Given the description of an element on the screen output the (x, y) to click on. 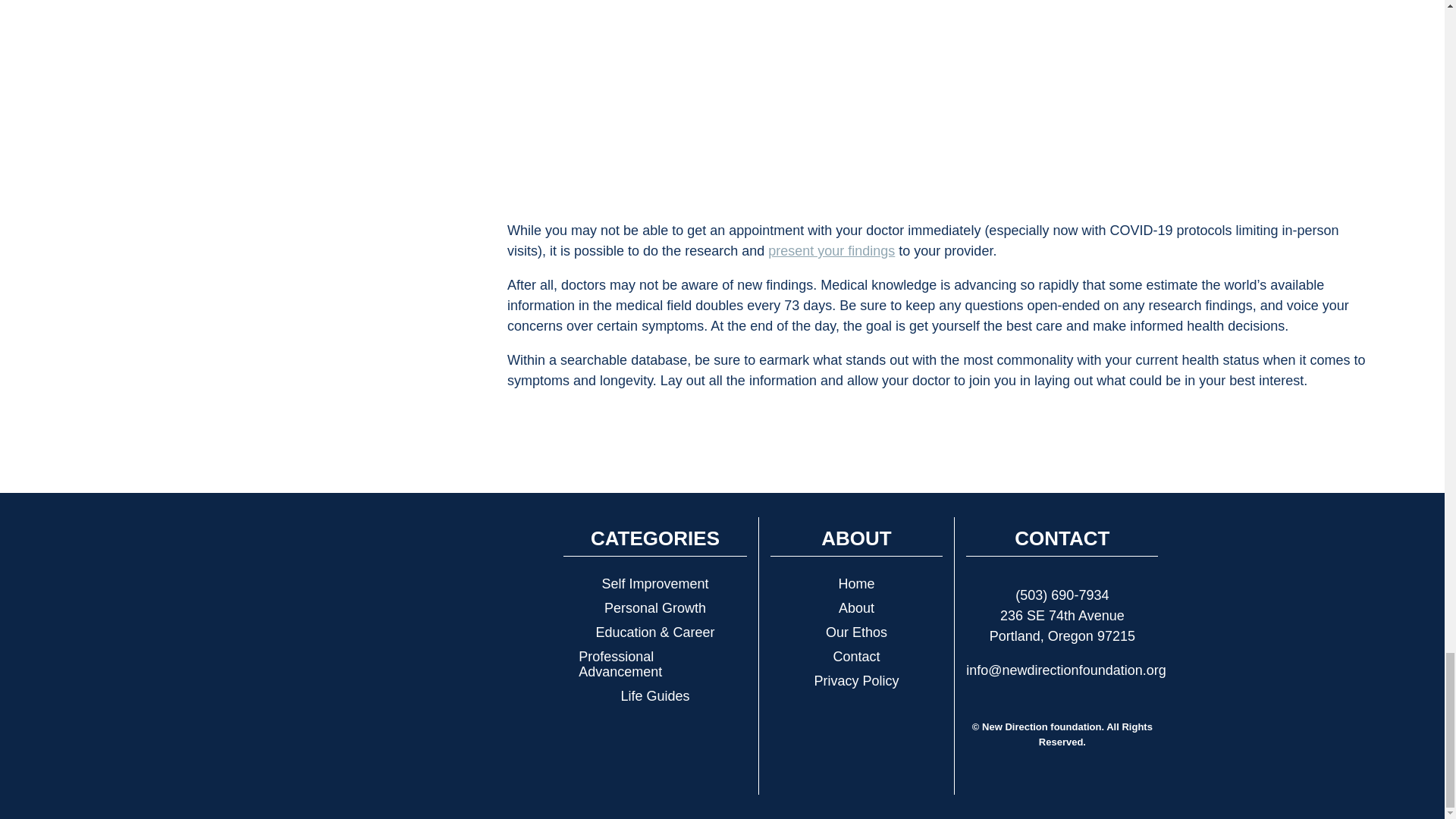
Professional Advancement (654, 663)
Personal Growth (654, 607)
Self Improvement (654, 583)
Life Guides (654, 695)
present your findings (831, 250)
